Given the description of an element on the screen output the (x, y) to click on. 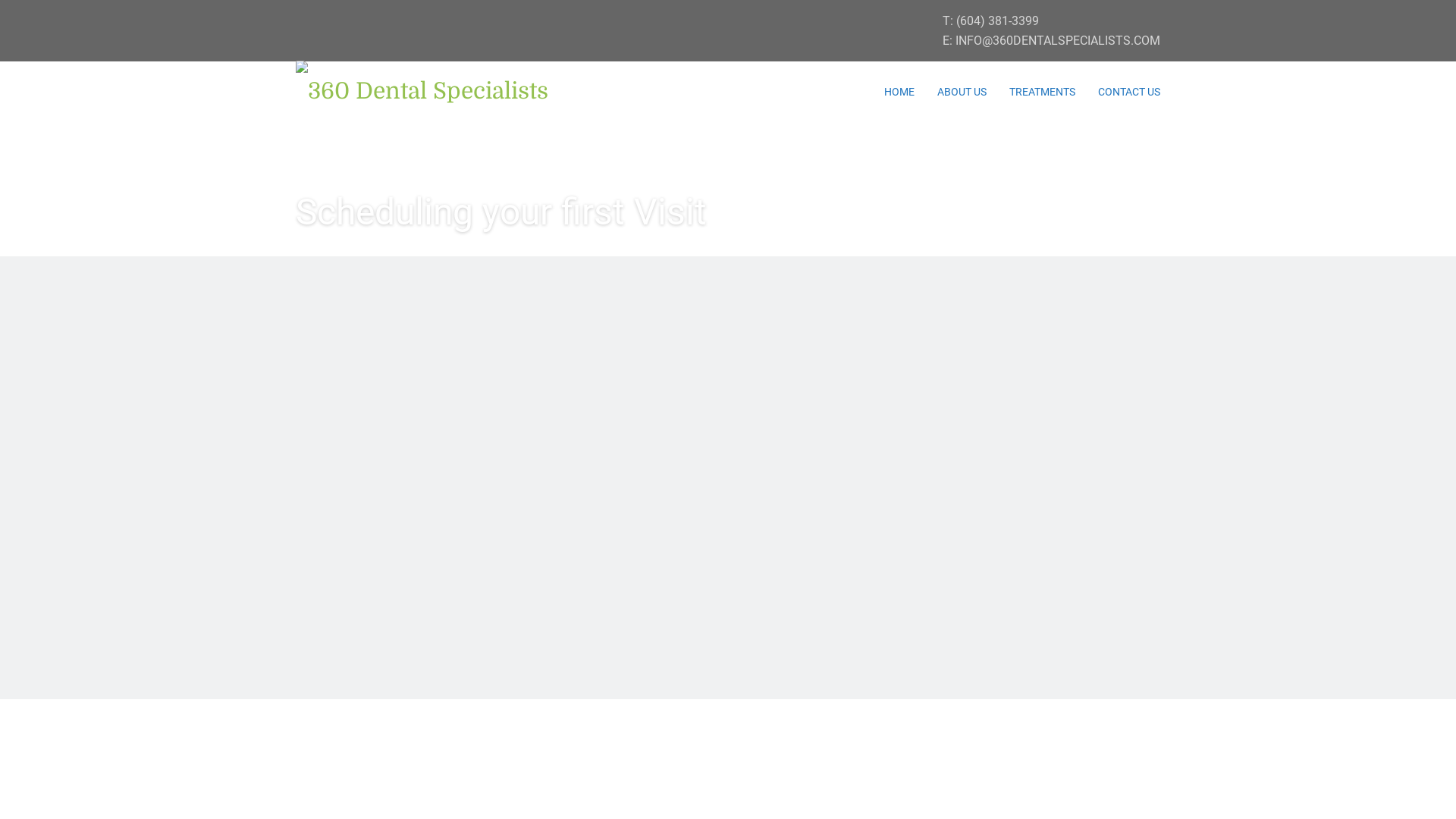
TREATMENTS Element type: text (1042, 91)
HOME Element type: text (899, 91)
ABOUT US Element type: text (961, 91)
CONTACT US Element type: text (1129, 91)
INFO@360DENTALSPECIALISTS.COM Element type: text (1057, 40)
(604) 381-3399 Element type: text (997, 20)
